Given the description of an element on the screen output the (x, y) to click on. 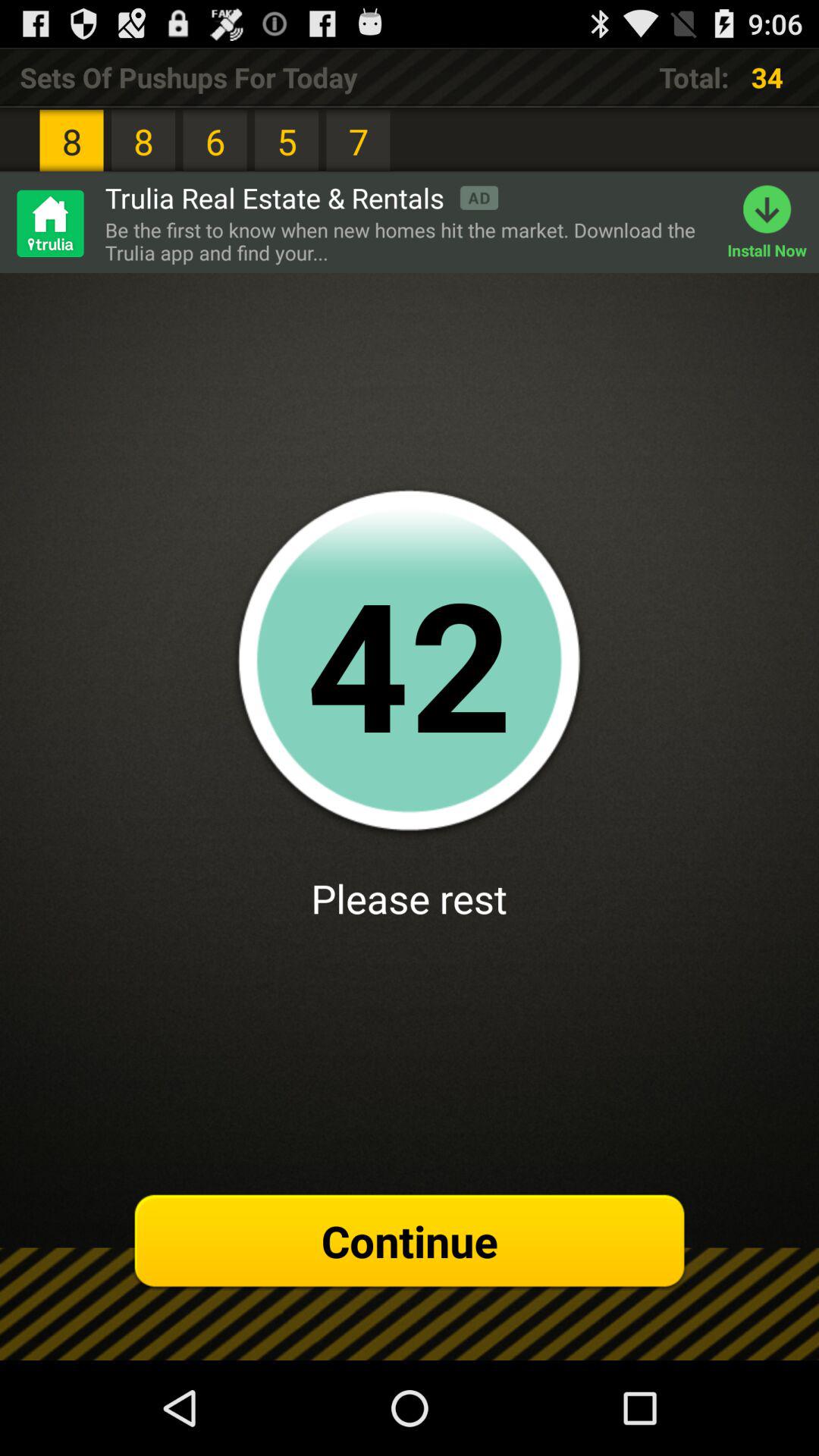
press the icon next to the install now app (408, 241)
